Given the description of an element on the screen output the (x, y) to click on. 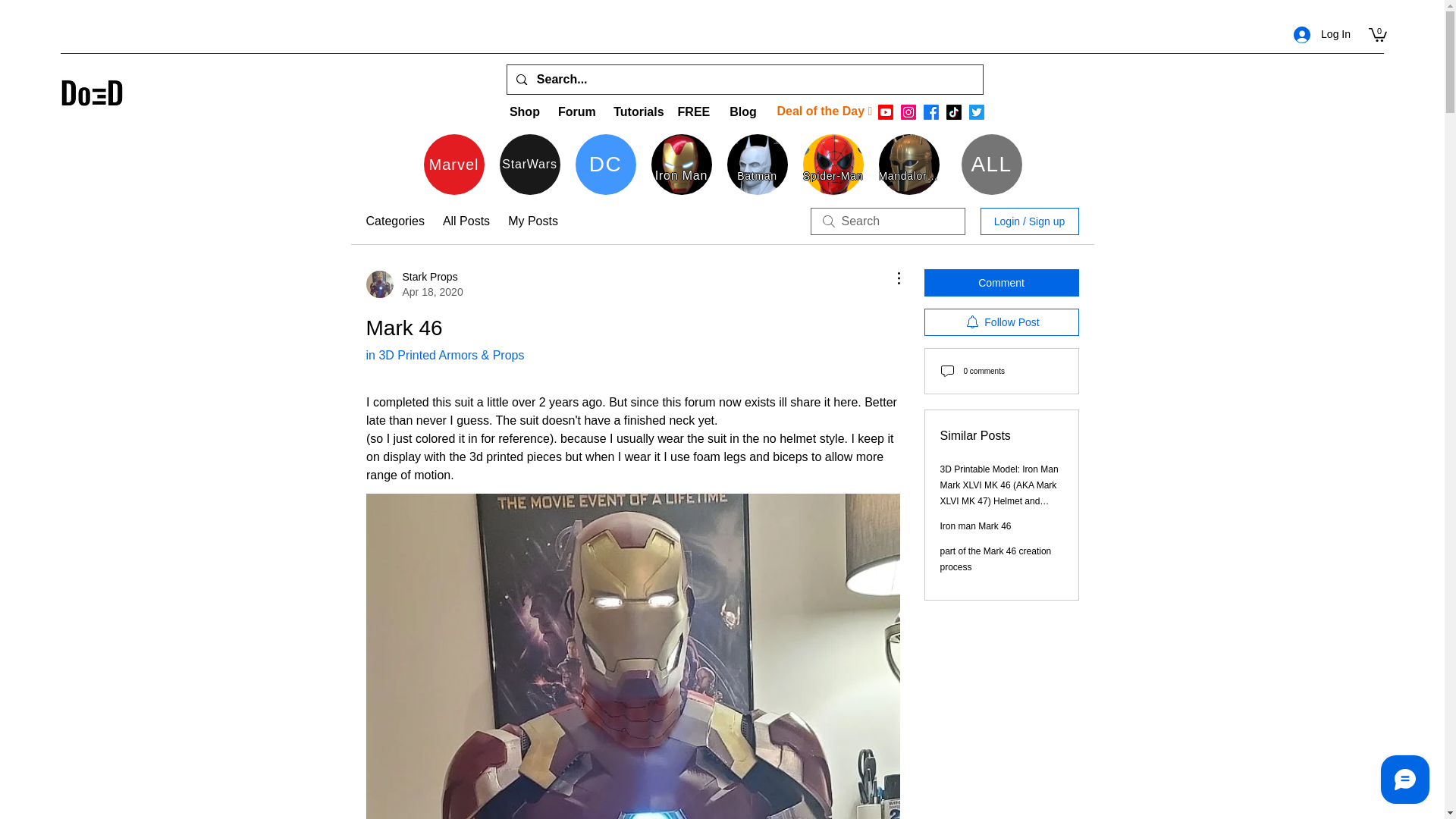
StarWars (529, 164)
0 (1377, 33)
All Posts (465, 221)
Smile.io Rewards Program Launcher (68, 780)
Shop (523, 111)
Batman (756, 164)
Mandalorian (908, 164)
Blog (742, 111)
Forum (576, 111)
Marvel (453, 164)
Log In (1321, 34)
Iron man Mark 46 (975, 525)
My Posts (532, 221)
Categories (394, 221)
Follow Post (1000, 321)
